Given the description of an element on the screen output the (x, y) to click on. 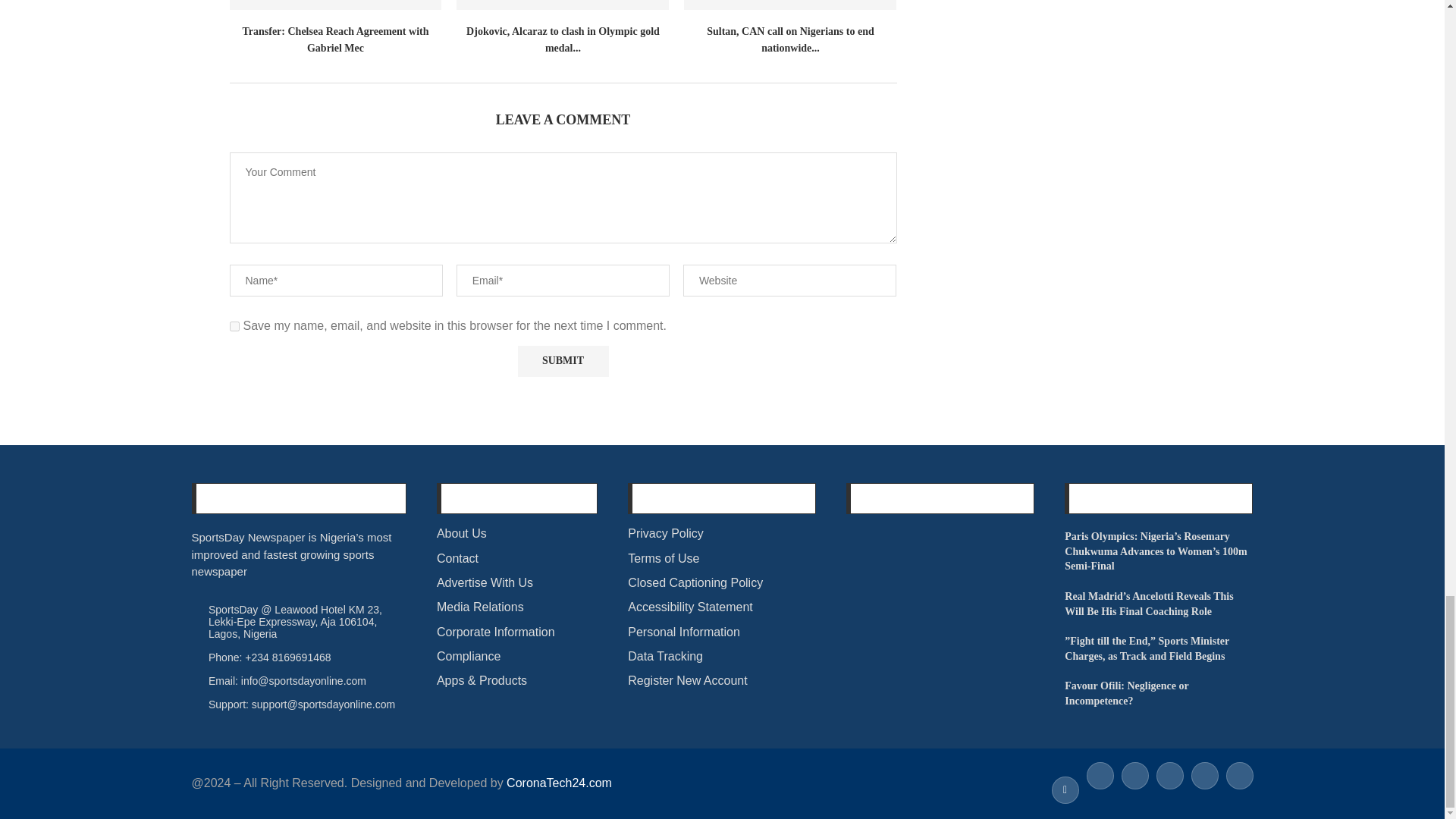
Submit (562, 360)
Djokovic, Alcaraz to clash in Olympic gold medal showdown (562, 5)
yes (233, 326)
Sultan, CAN call on Nigerians to end nationwide protest (790, 5)
Transfer: Chelsea Reach Agreement with Gabriel Mec (334, 5)
